Given the description of an element on the screen output the (x, y) to click on. 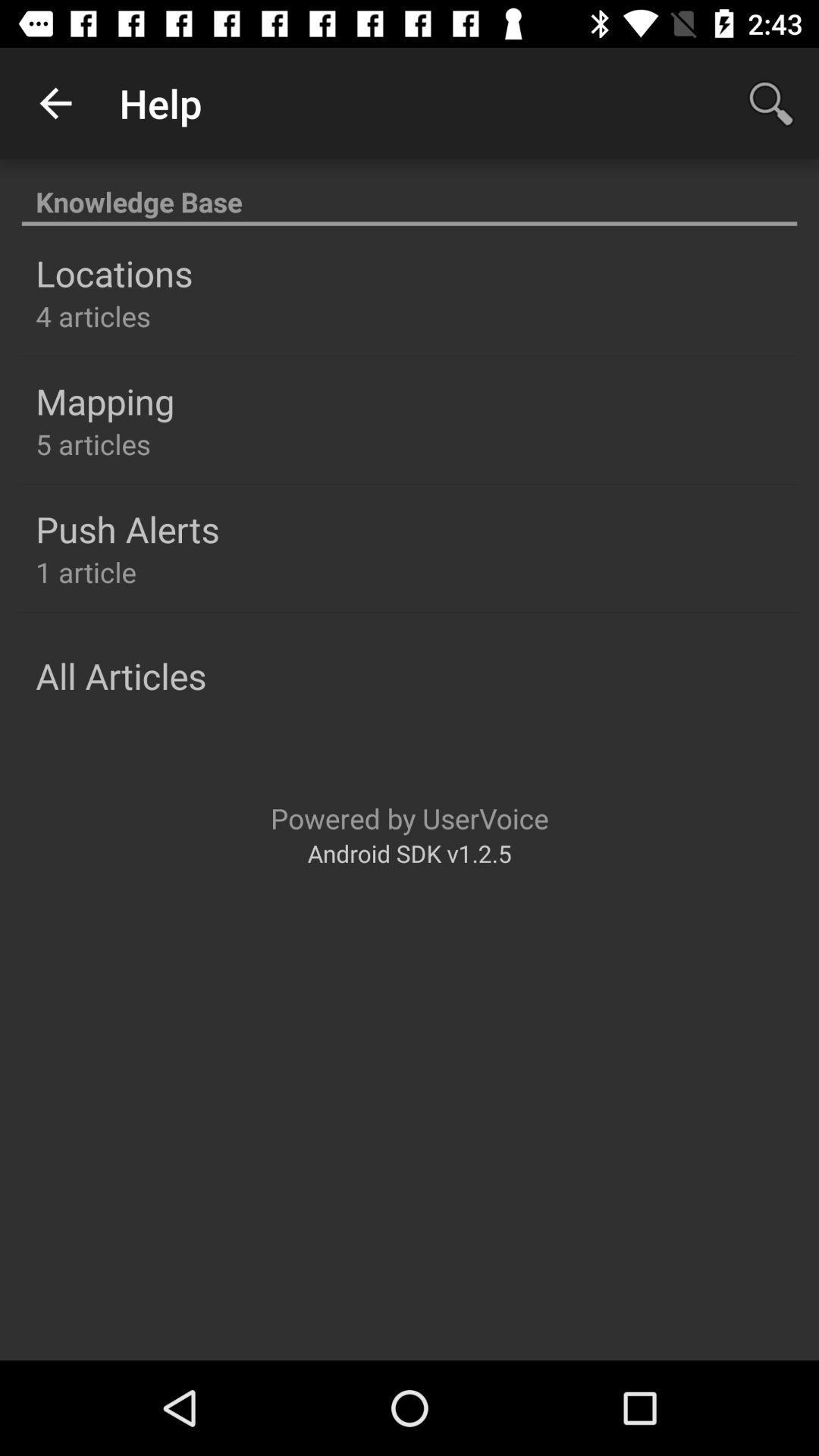
turn on the item above the knowledge base item (771, 103)
